Given the description of an element on the screen output the (x, y) to click on. 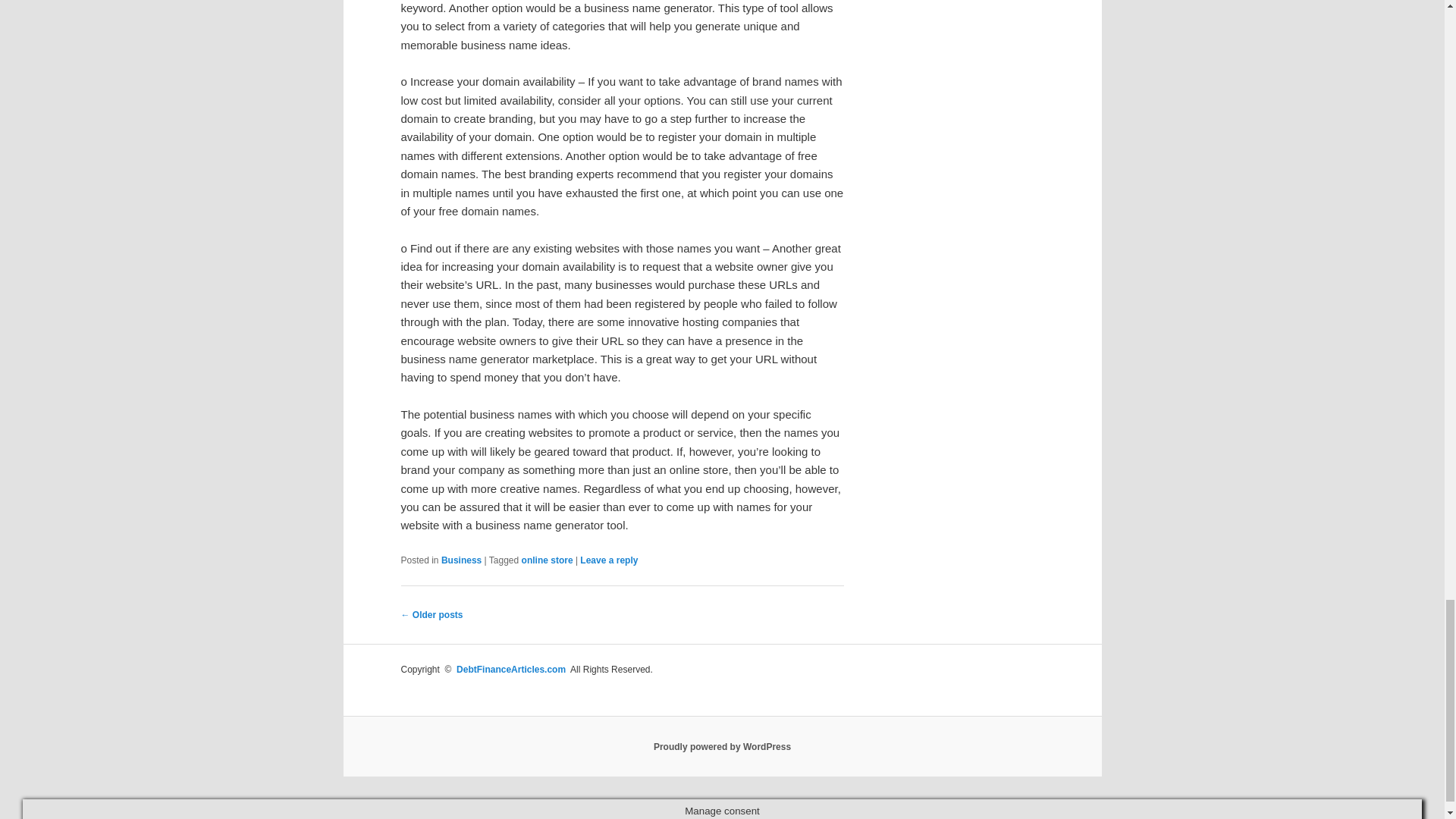
Business (461, 560)
